Given the description of an element on the screen output the (x, y) to click on. 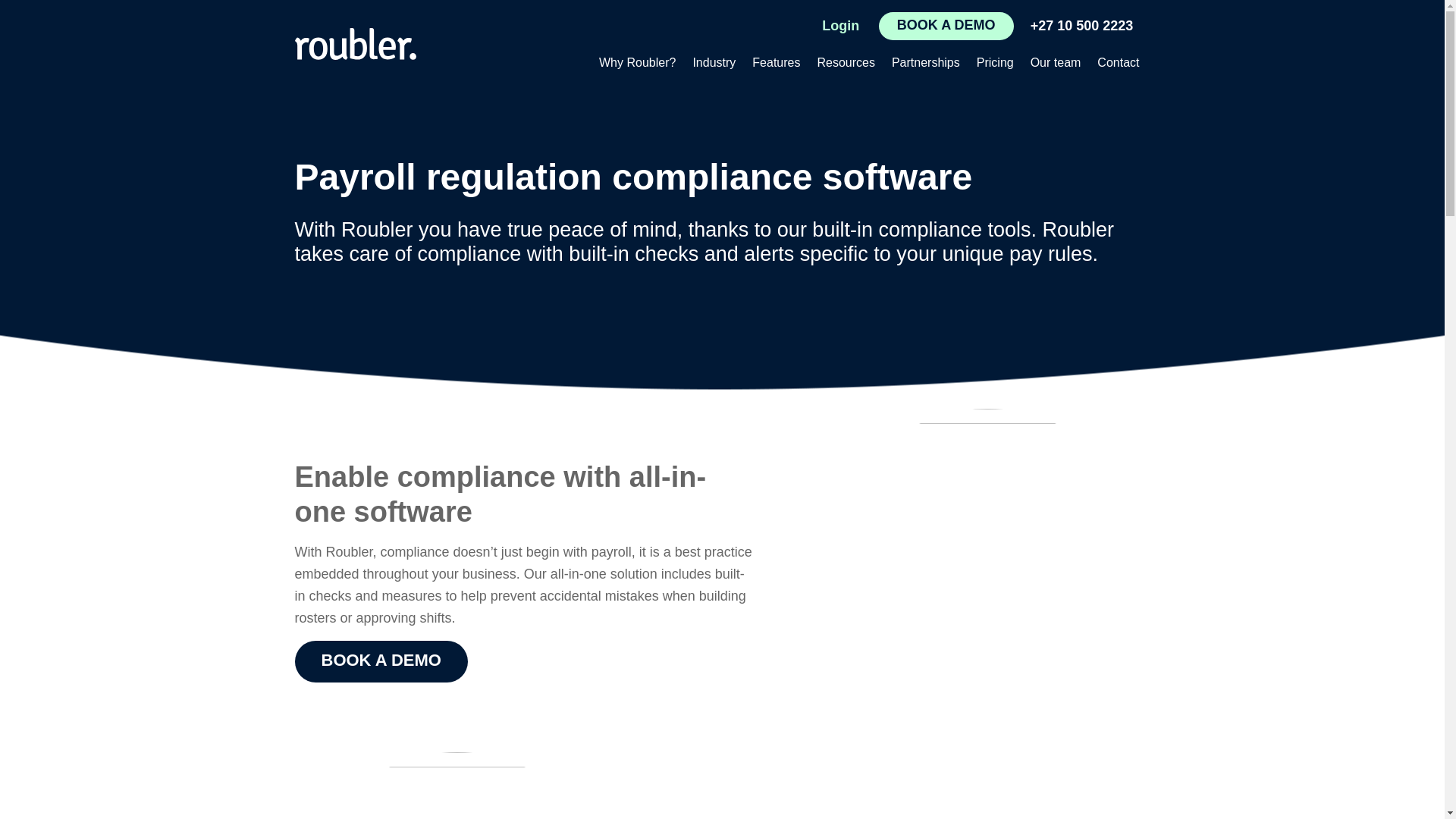
Pricing (995, 63)
Resources (845, 63)
Login (840, 25)
Contact (1117, 63)
Partnerships (925, 63)
Industry (713, 63)
Features (775, 63)
Why Roubler? (636, 63)
Our team (1056, 63)
